Given the description of an element on the screen output the (x, y) to click on. 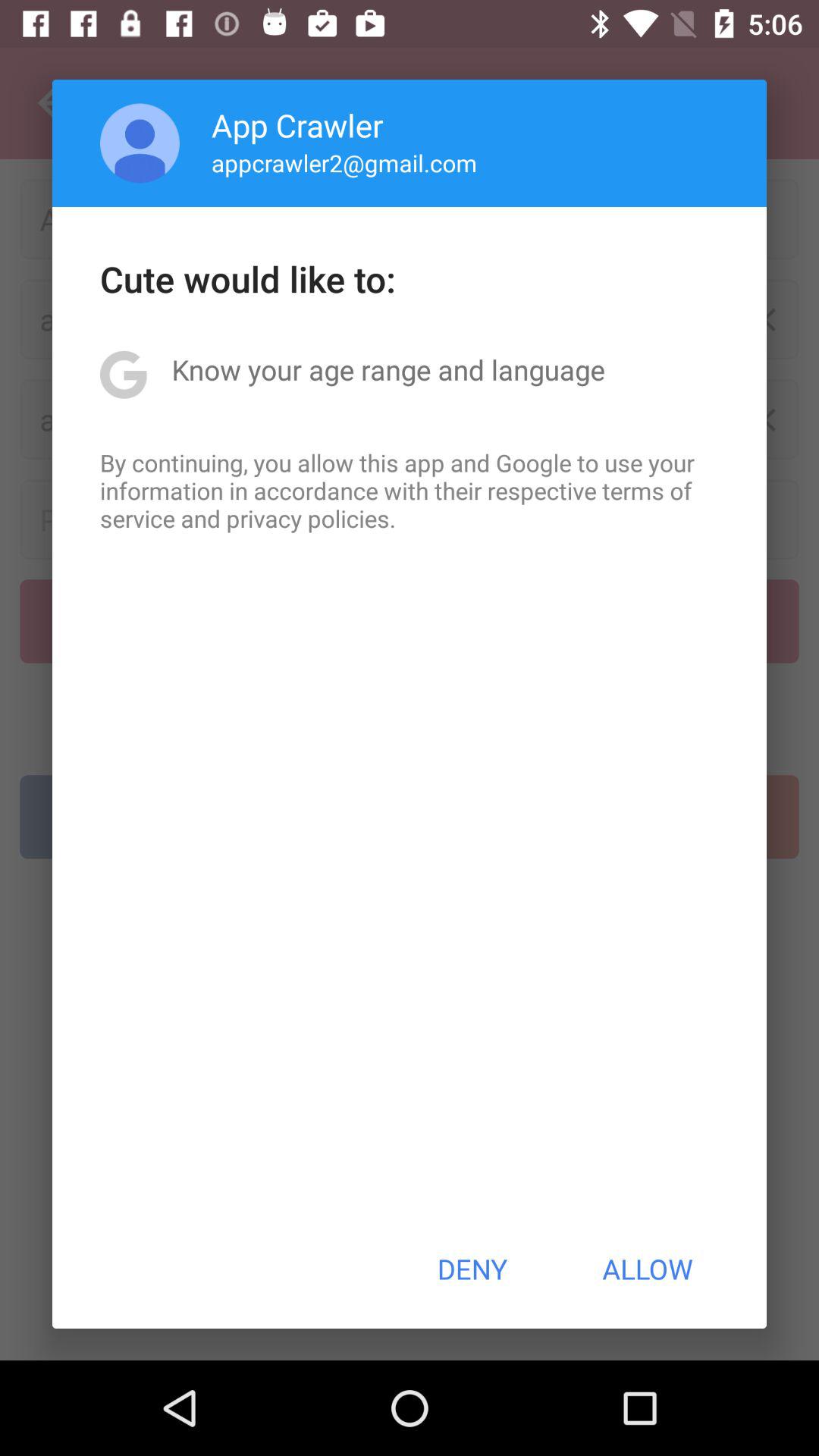
flip until appcrawler2@gmail.com item (344, 162)
